Given the description of an element on the screen output the (x, y) to click on. 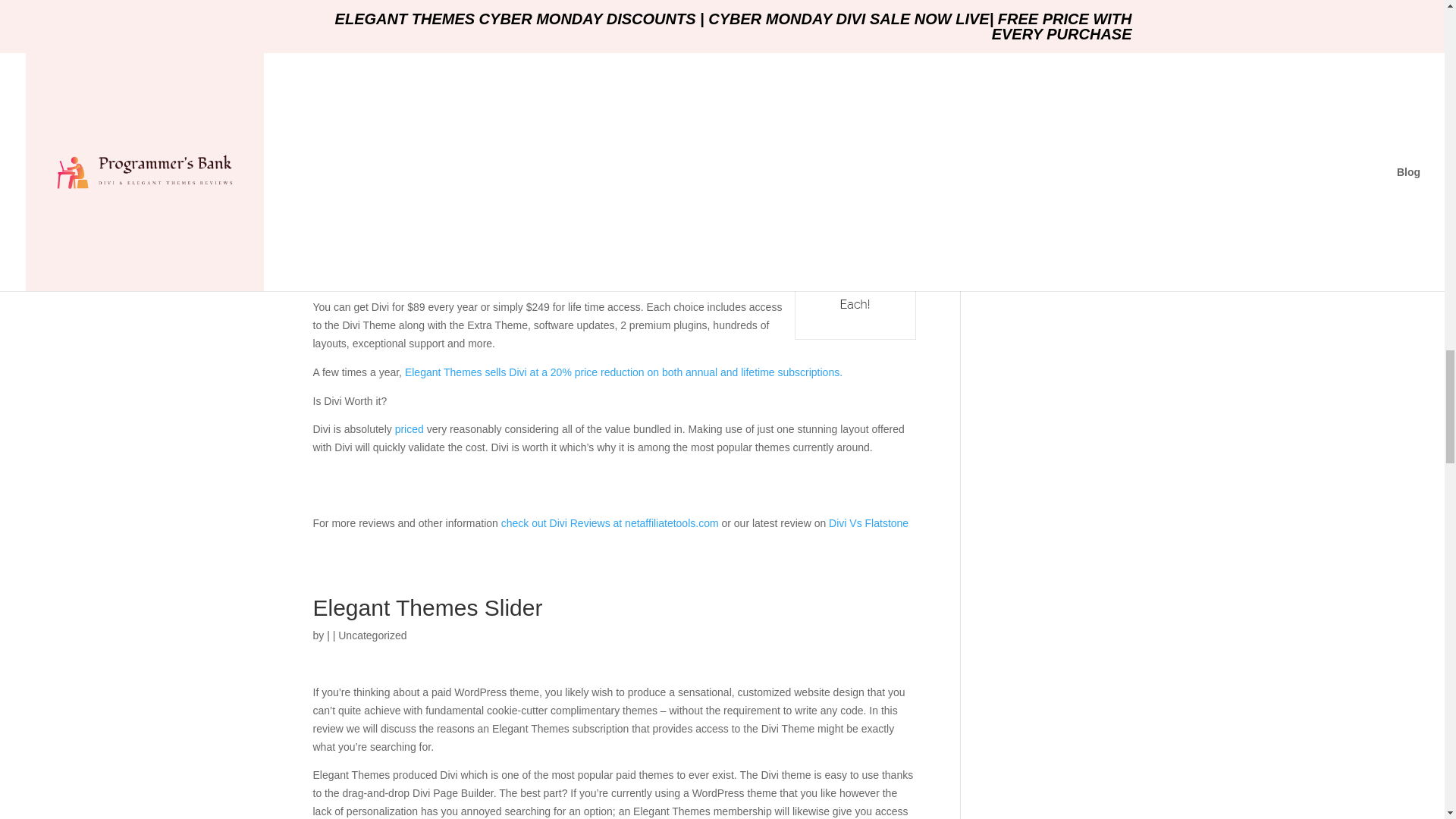
priced (408, 428)
check out Divi Reviews at netaffiliatetools.com (609, 522)
Divi Page Builder (374, 59)
Divi Vs Flatsome (866, 522)
Divi Vs Flatstone (866, 522)
